Given the description of an element on the screen output the (x, y) to click on. 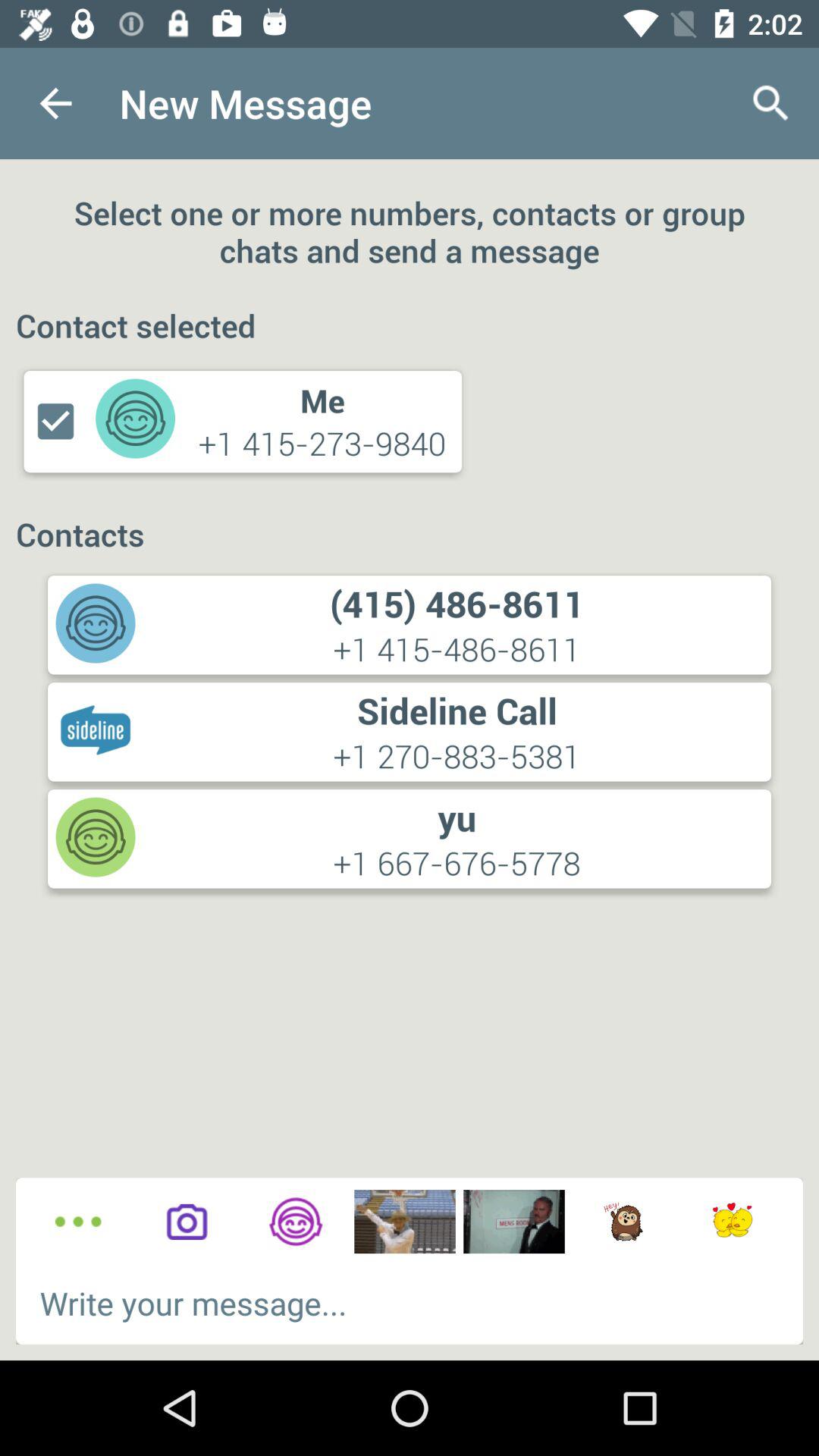
send emoji (732, 1221)
